Given the description of an element on the screen output the (x, y) to click on. 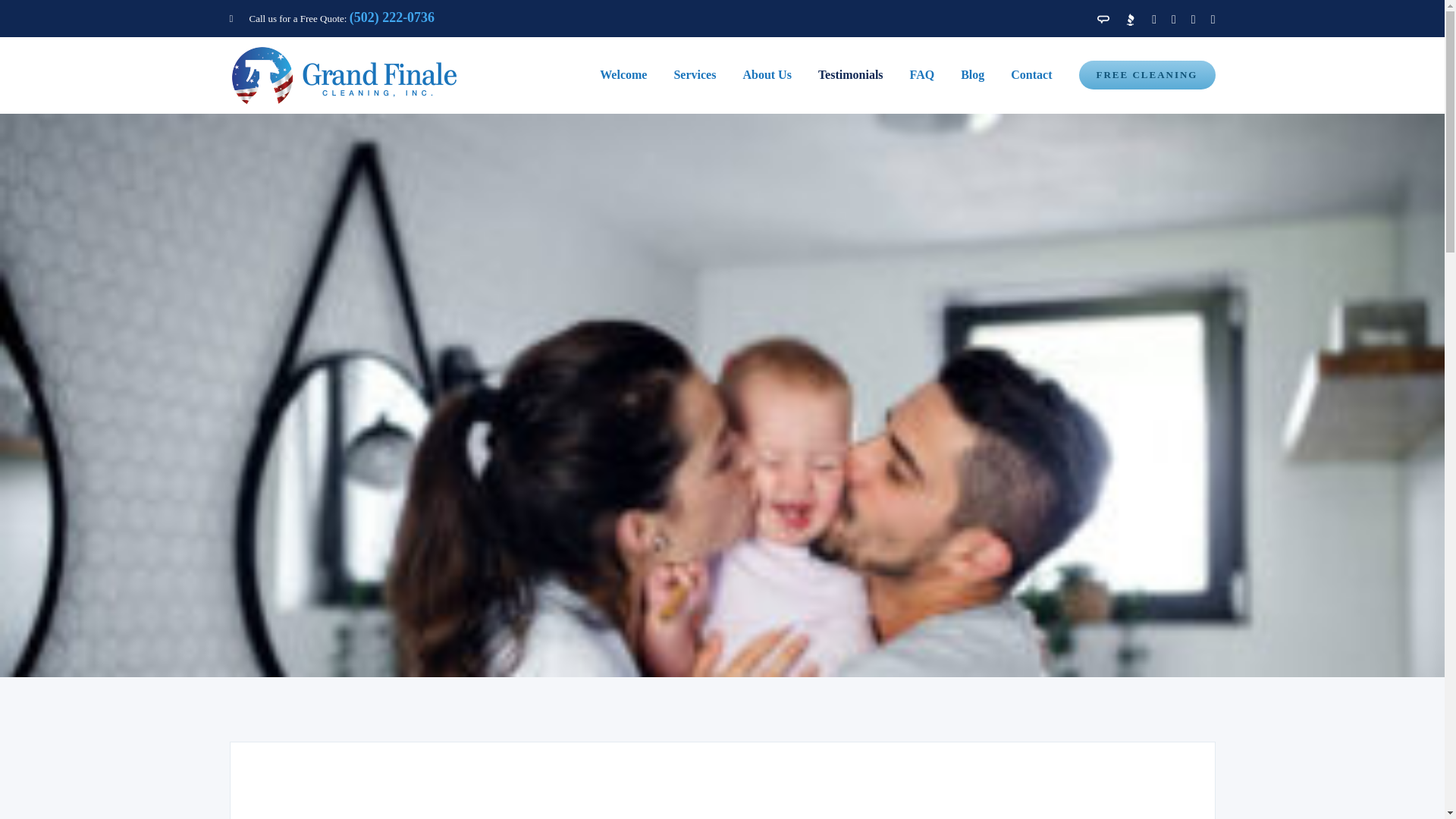
Better Business Bureau (1130, 19)
Better Business Bureau (1130, 19)
Angie's List (1103, 19)
Angie's List (1103, 19)
FREE CLEANING (1146, 74)
